Given the description of an element on the screen output the (x, y) to click on. 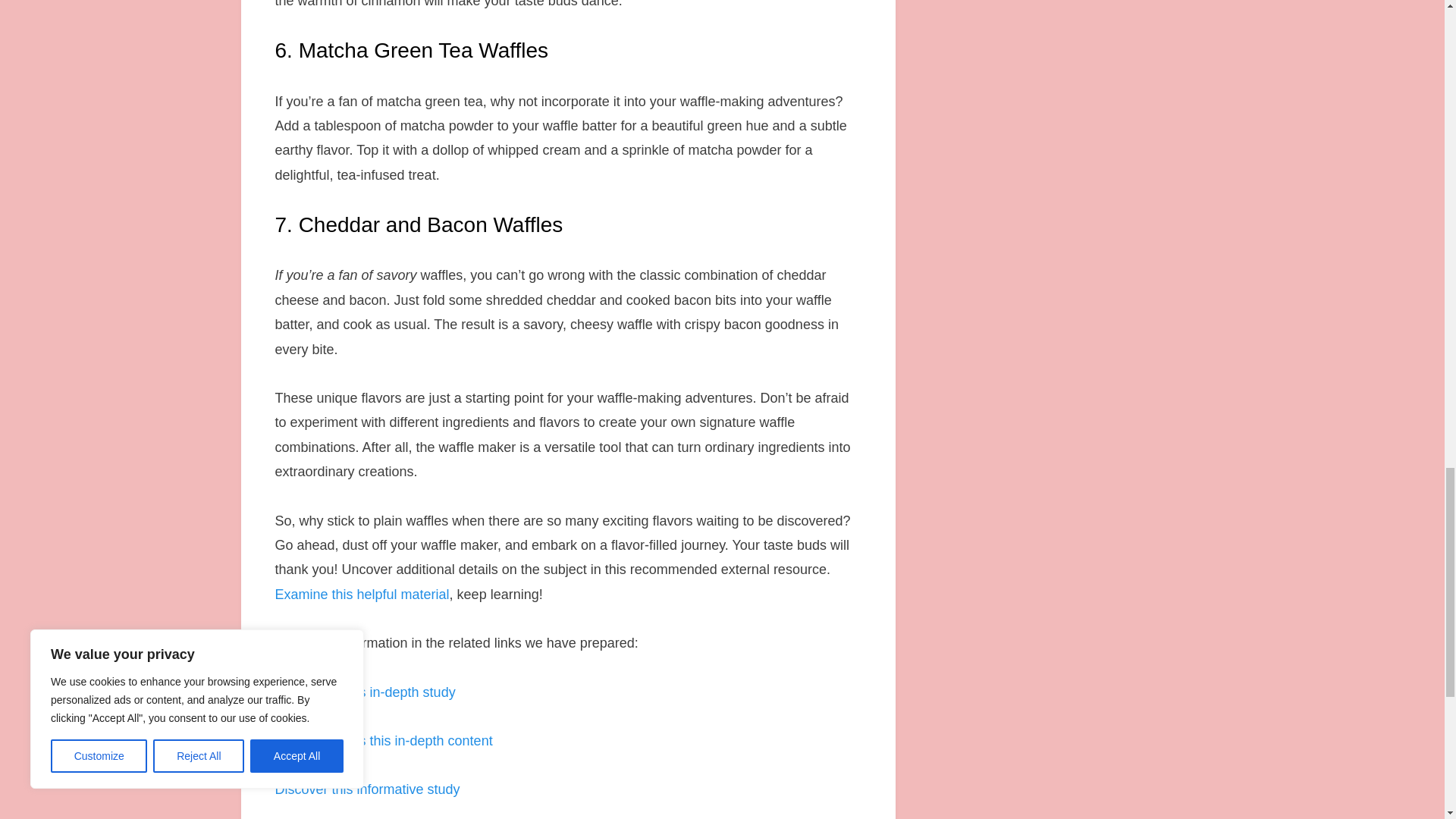
Discover this informative study (367, 789)
Examine this helpful material (361, 594)
Click to access this in-depth content (383, 740)
Investigate this in-depth study (364, 692)
